Given the description of an element on the screen output the (x, y) to click on. 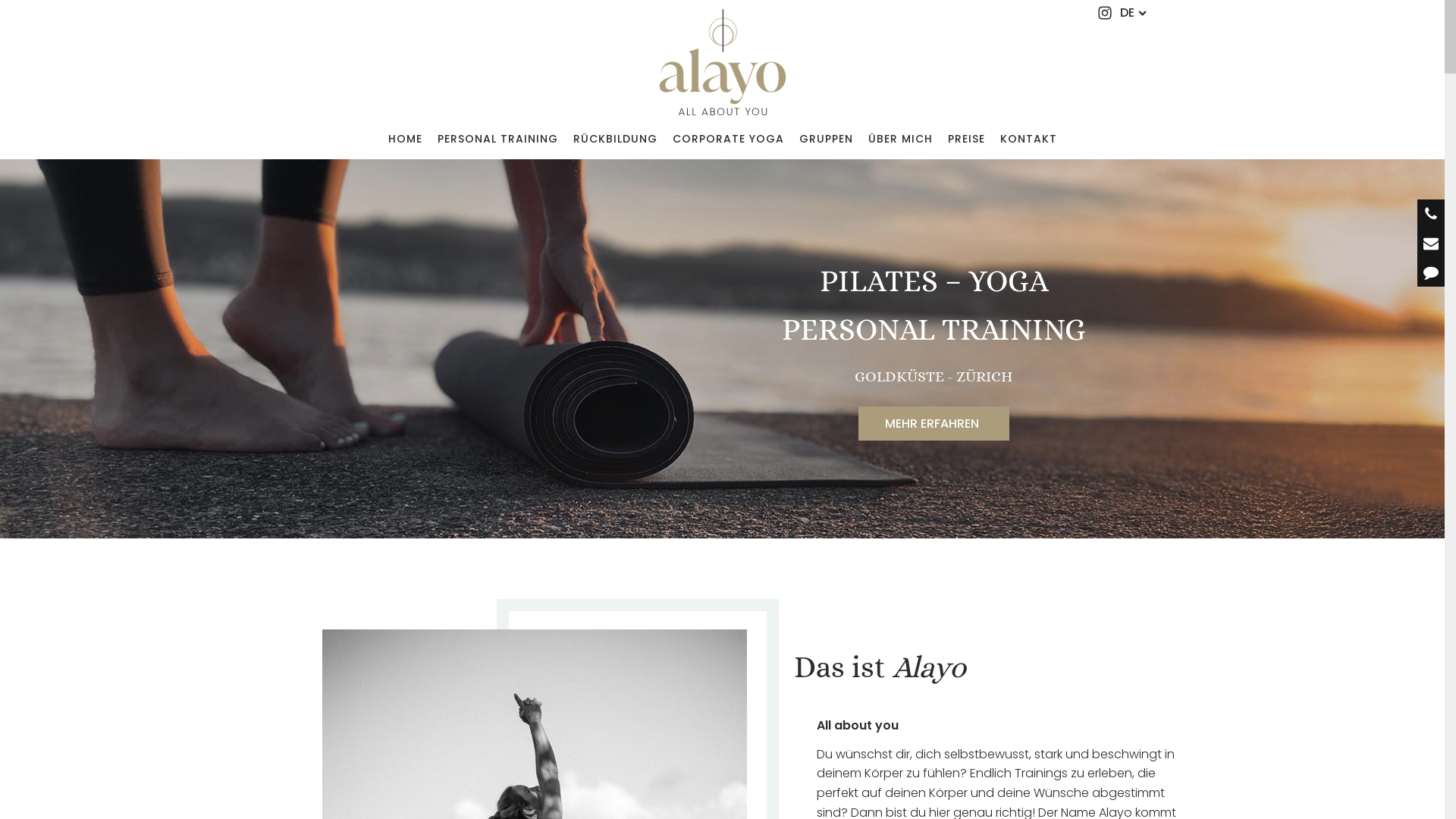
KONTAKT Element type: text (1027, 138)
CORPORATE YOGA Element type: text (727, 138)
MEHR ERFAHREN Element type: text (933, 423)
PREISE Element type: text (966, 138)
PERSONAL TRAINING Element type: text (496, 138)
GRUPPEN Element type: text (825, 138)
HOME Element type: text (404, 138)
